Given the description of an element on the screen output the (x, y) to click on. 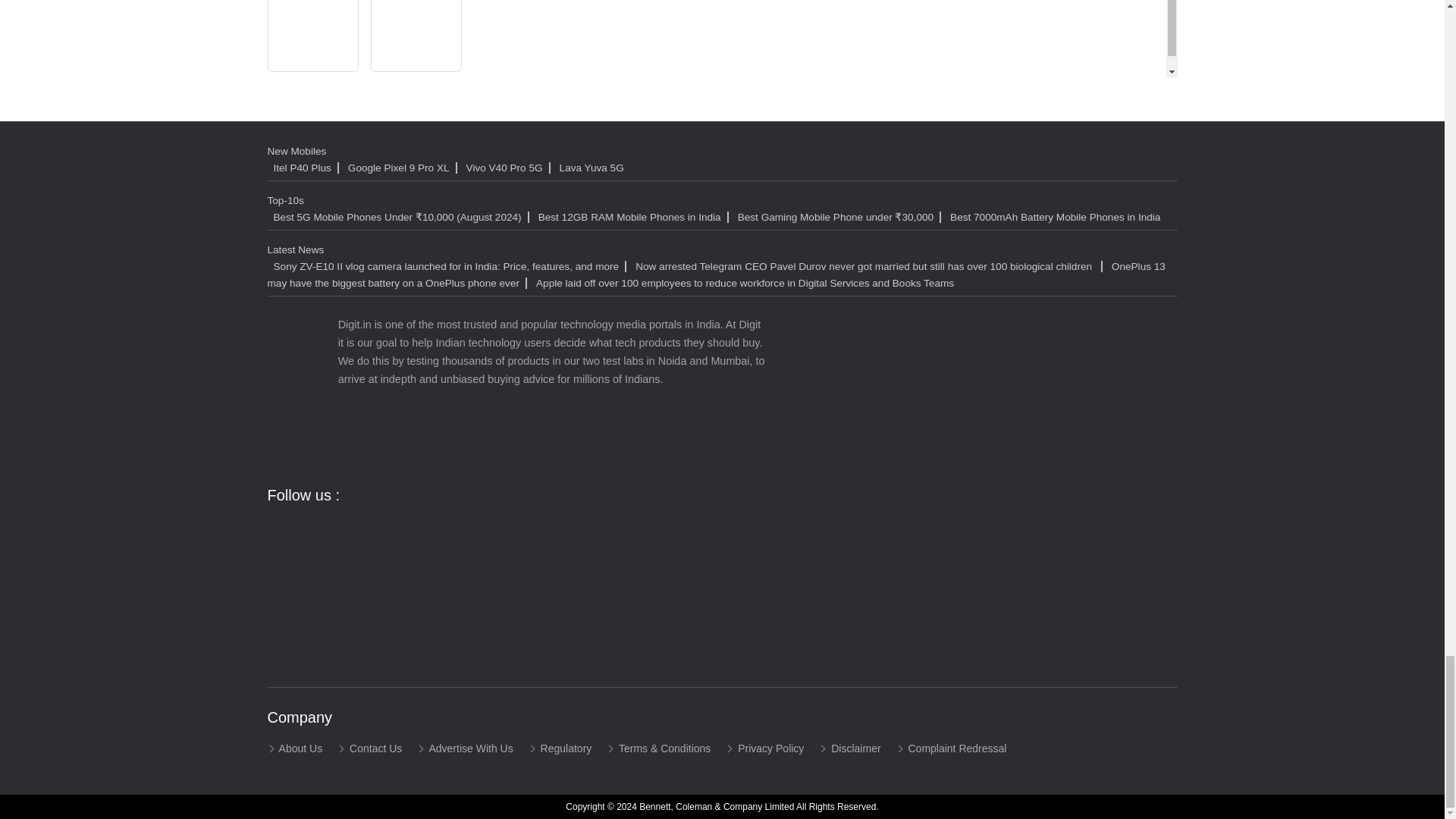
Vivo V40 Pro 5G (506, 167)
Itel P40 Plus (303, 167)
Google Pixel 9 Pro XL (401, 167)
Lava Yuva 5G (590, 167)
